Given the description of an element on the screen output the (x, y) to click on. 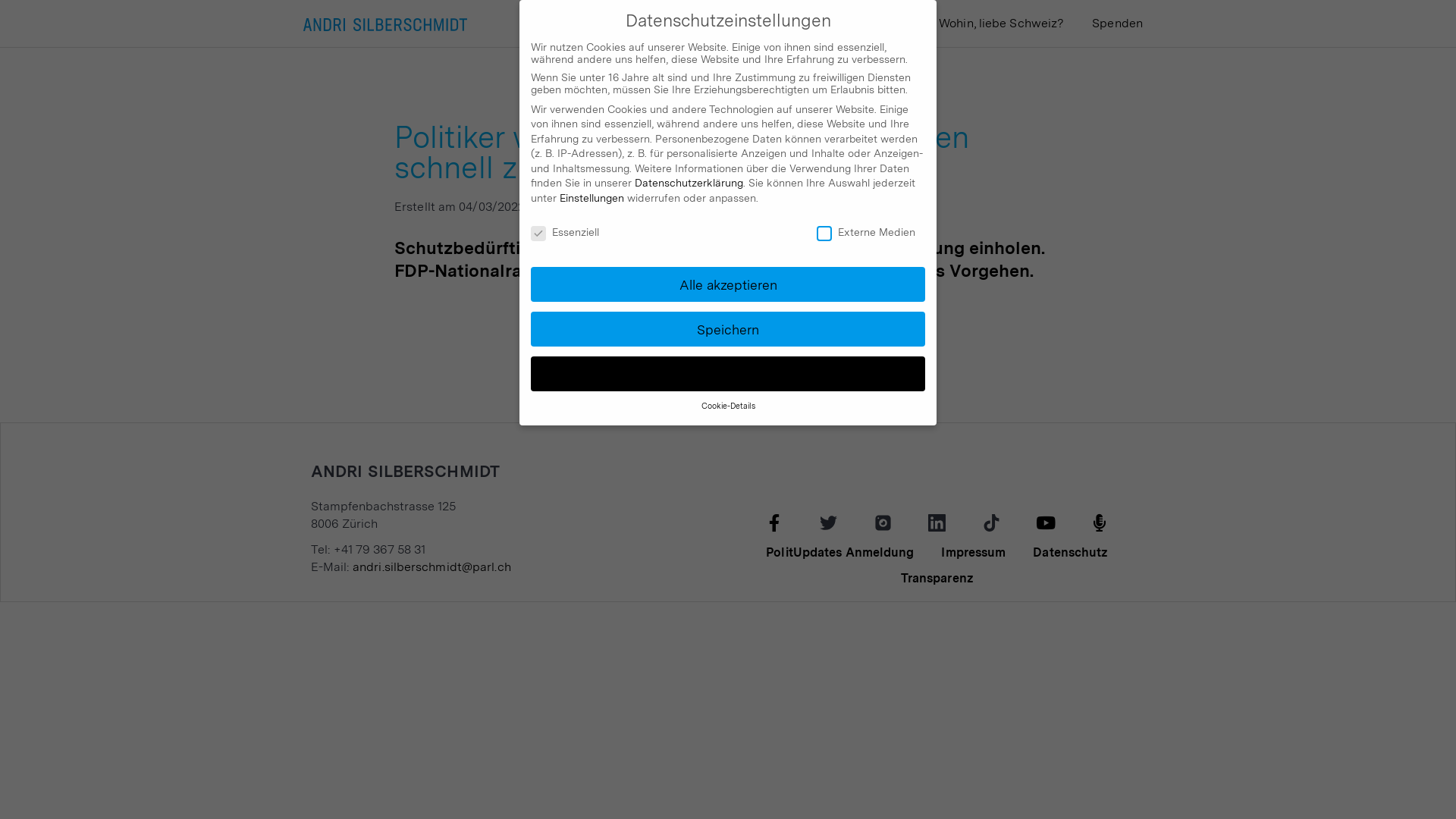
Datenschutz Element type: text (1070, 552)
Erstellt am 04/03/2022 Element type: text (459, 206)
Individuelle Datenschutzeinstellungen Element type: text (727, 373)
Aktuelles Element type: text (708, 23)
Transparenz Element type: text (937, 578)
Spenden Element type: text (1117, 23)
Einstellungen Element type: text (591, 197)
Speichern Element type: text (727, 328)
cropped-Andri-Silberschmidt-Logo-00AEEF.webp Element type: hover (385, 24)
Wohin, liebe Schweiz? Element type: text (1000, 23)
Alle akzeptieren Element type: text (727, 283)
Impressum Element type: text (973, 552)
zum Artikel Element type: text (727, 312)
andri.silberschmidt@parl.ch Element type: text (431, 566)
Cookie-Details Element type: text (727, 406)
Themen Element type: text (888, 23)
PolitUpdates Anmeldung Element type: text (839, 552)
